Given the description of an element on the screen output the (x, y) to click on. 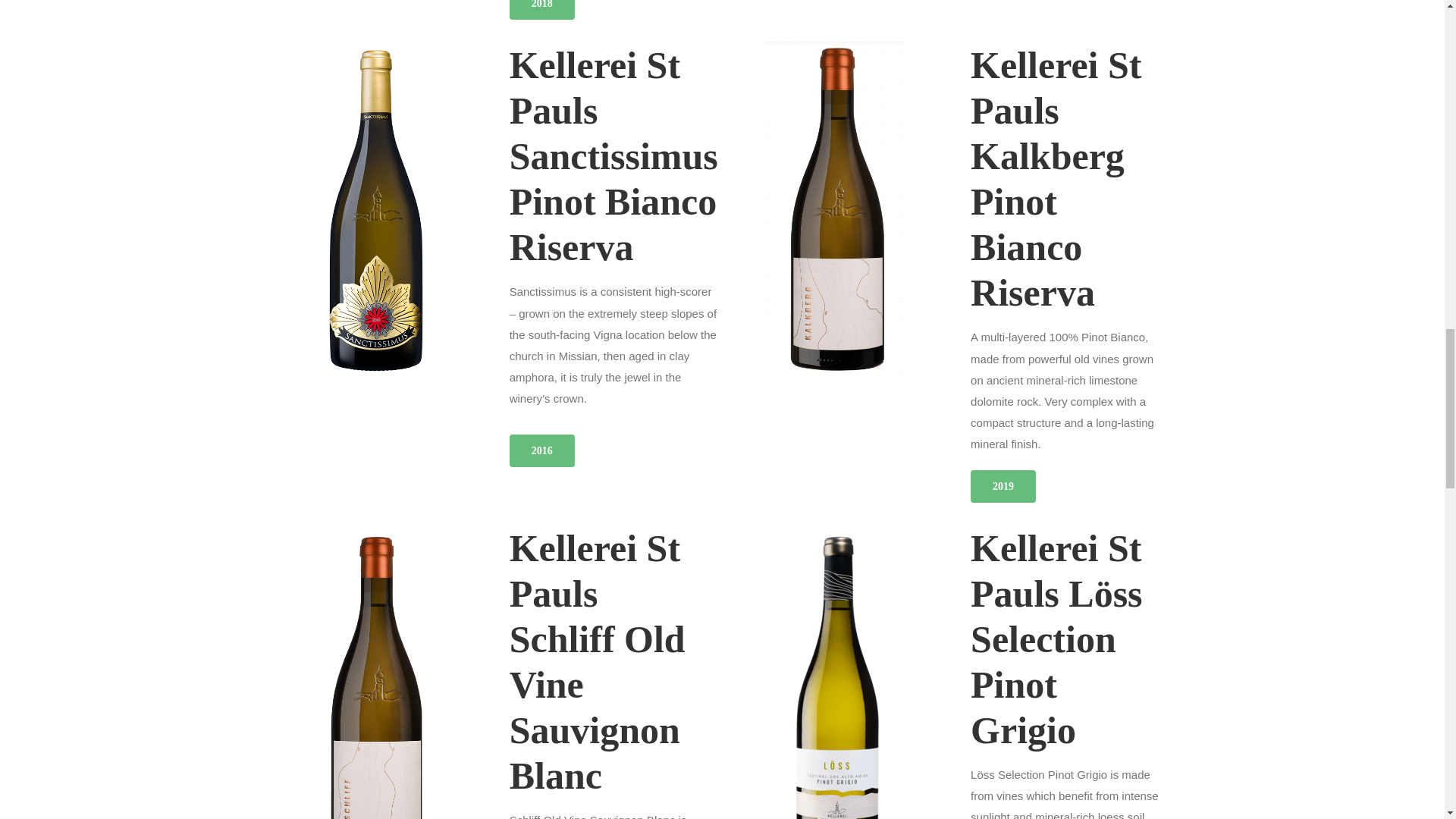
2018 (542, 9)
2016 (542, 450)
2019 (1003, 486)
